Given the description of an element on the screen output the (x, y) to click on. 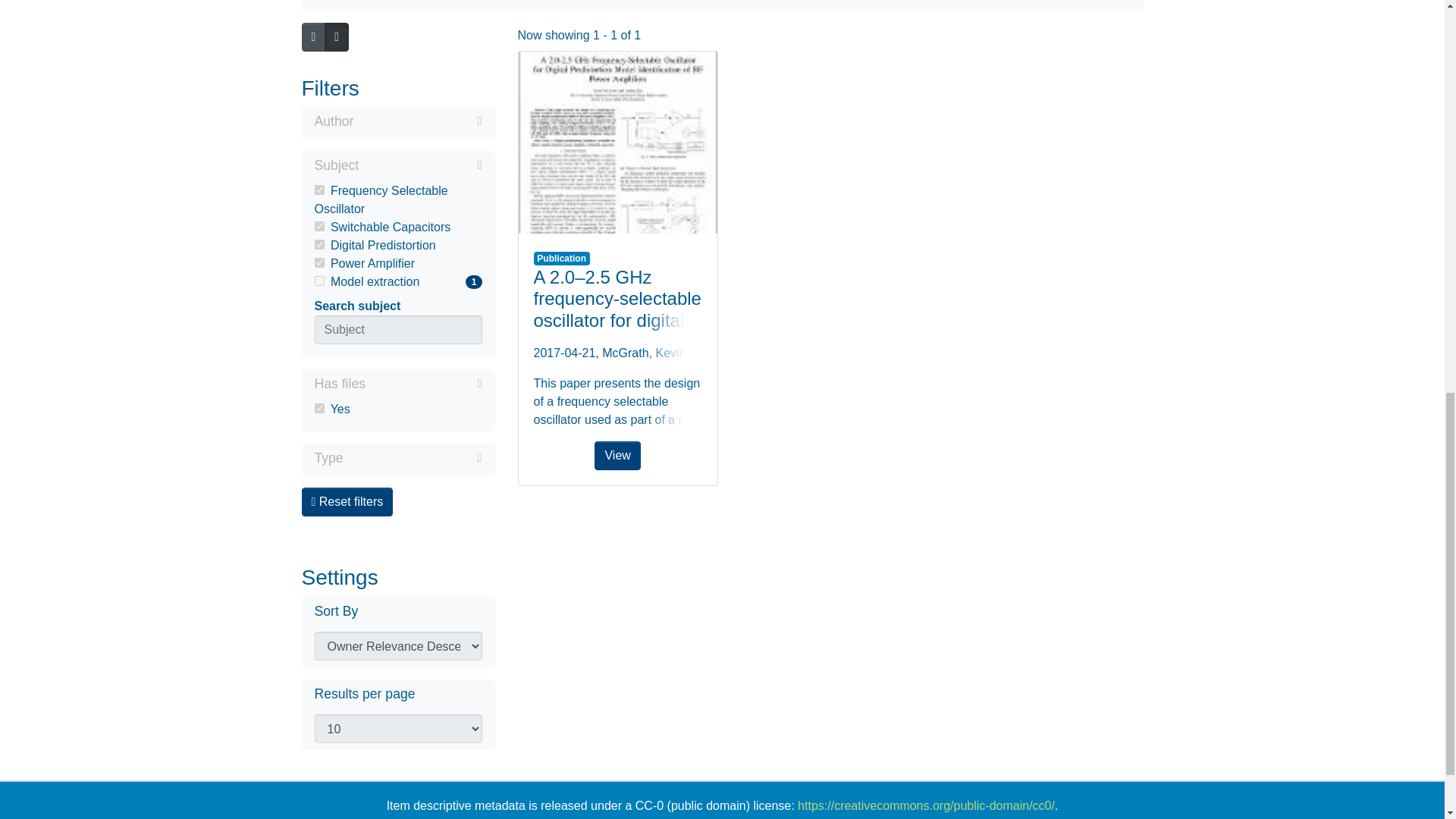
Collapse filter (419, 165)
Collapse filter (423, 383)
on (318, 262)
on (318, 280)
on (318, 408)
Switchable Capacitors (397, 227)
on (318, 225)
Expand filter (397, 281)
Frequency Selectable Oscillator (417, 121)
Subject (397, 199)
on (397, 167)
Author (318, 244)
Expand filter (397, 122)
on (412, 457)
